Given the description of an element on the screen output the (x, y) to click on. 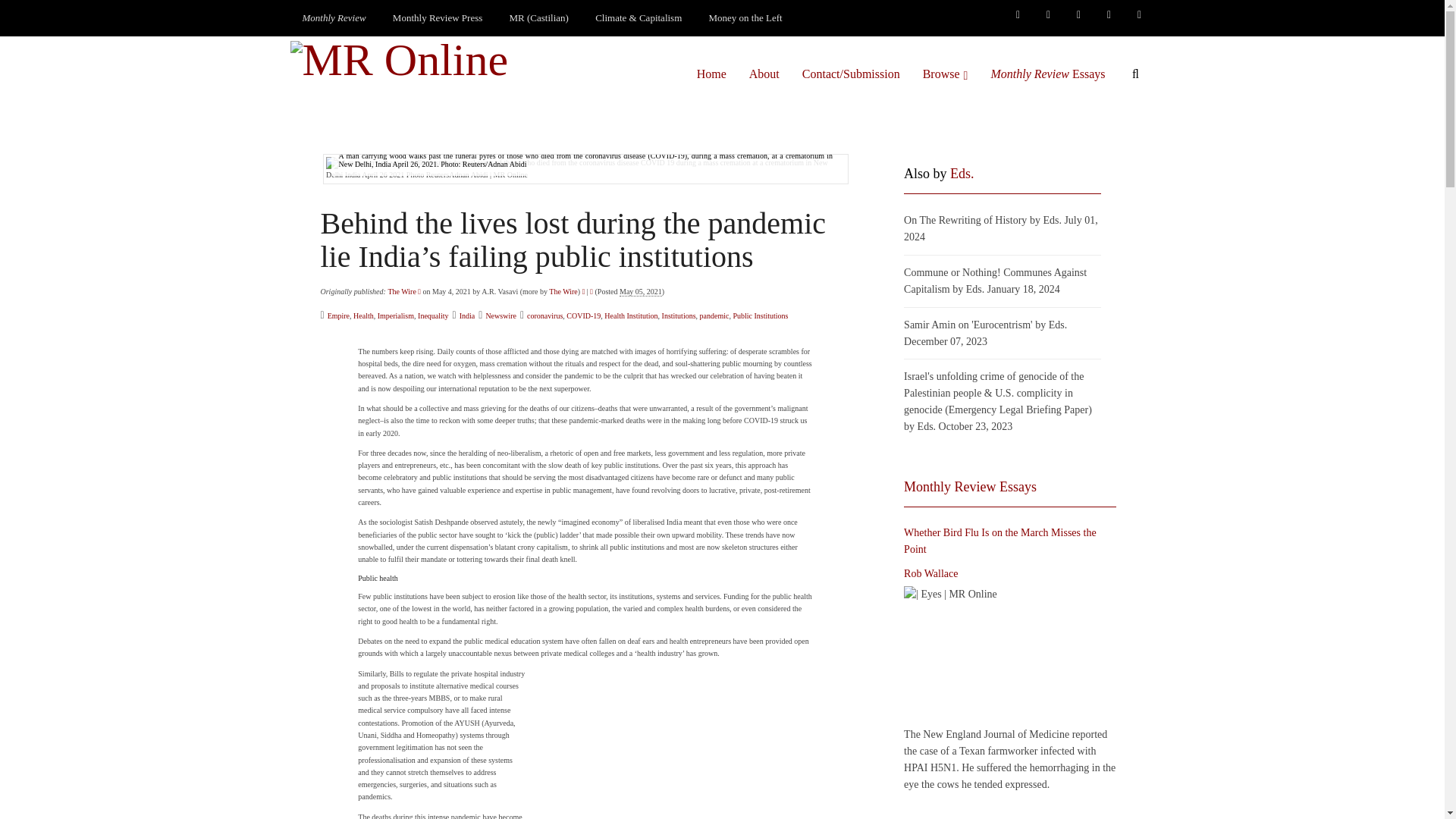
Monthly Review Magazine (333, 18)
Home (711, 74)
Posts by Rob Wallace (931, 573)
Home (711, 74)
Monthly Review (333, 18)
About (764, 74)
Monthly Review Press (437, 18)
Whether Bird Flu Is on the March Misses the Point (1010, 654)
Browse (945, 74)
Money on the Left (745, 18)
